Given the description of an element on the screen output the (x, y) to click on. 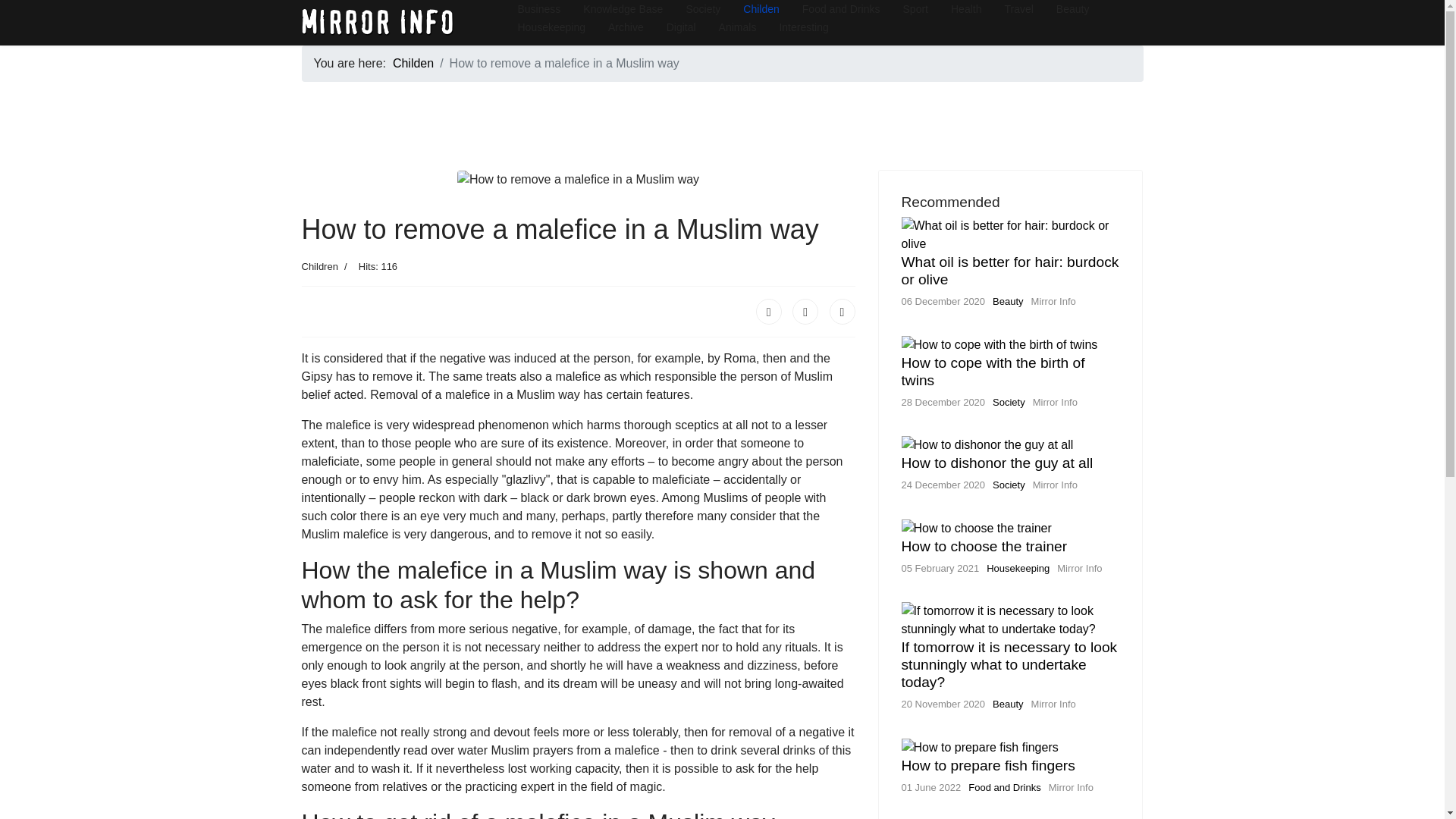
How to cope with the birth of twins (992, 371)
Twitter (805, 311)
How to choose the trainer (984, 546)
Society (1008, 401)
Beauty (1007, 704)
Category: Children (319, 266)
Beauty (1007, 301)
How to dishonor the guy at all (997, 462)
Housekeeping (1018, 568)
